Given the description of an element on the screen output the (x, y) to click on. 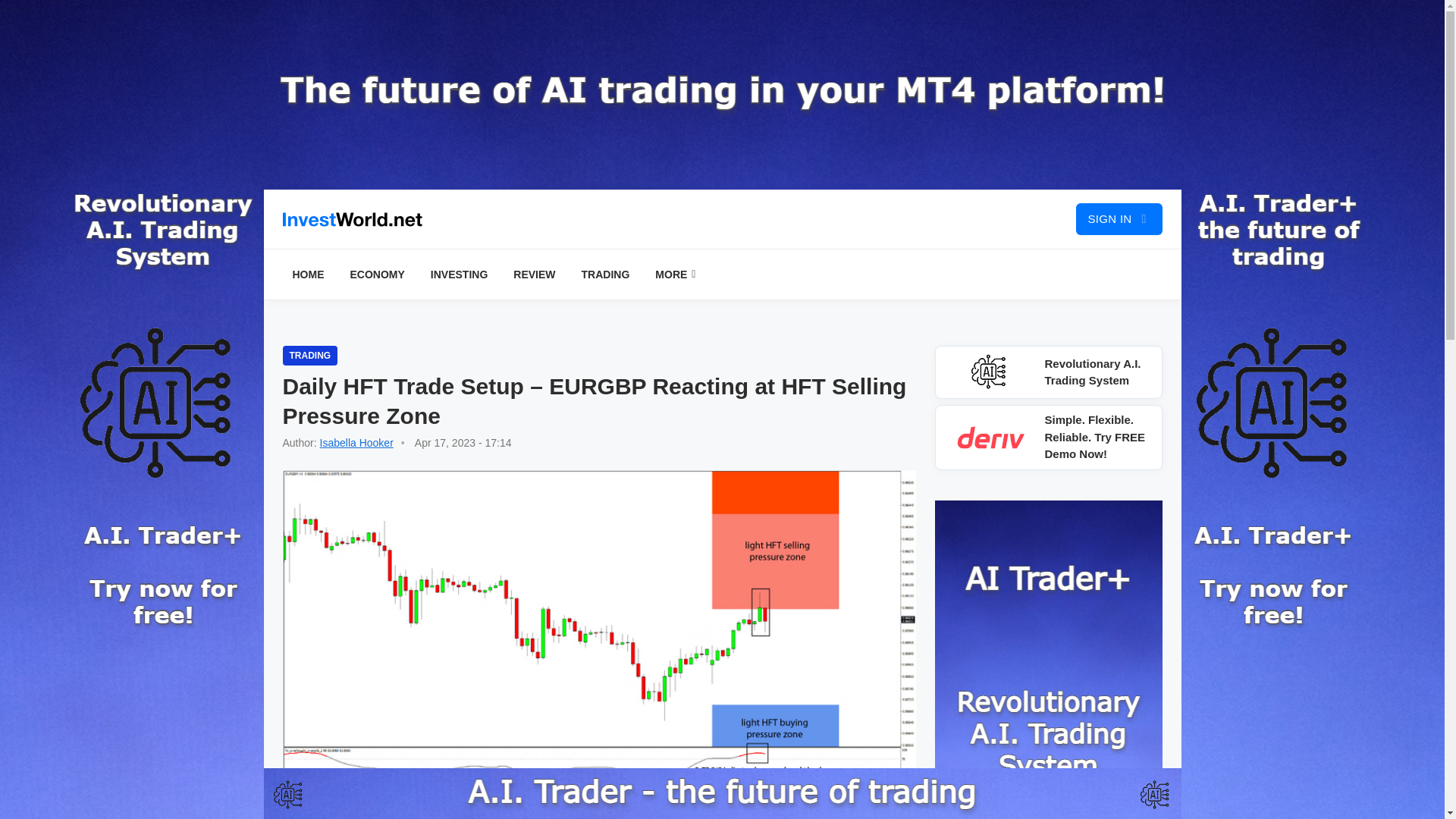
REVIEW (533, 274)
TRADING (309, 355)
ECONOMY (376, 274)
MORE (674, 274)
INVESTING (458, 274)
Isabella Hooker (356, 442)
SIGN IN (1118, 219)
Revolutionary A.I. Trading System (1047, 371)
HOME (307, 274)
TRADING (606, 274)
